Given the description of an element on the screen output the (x, y) to click on. 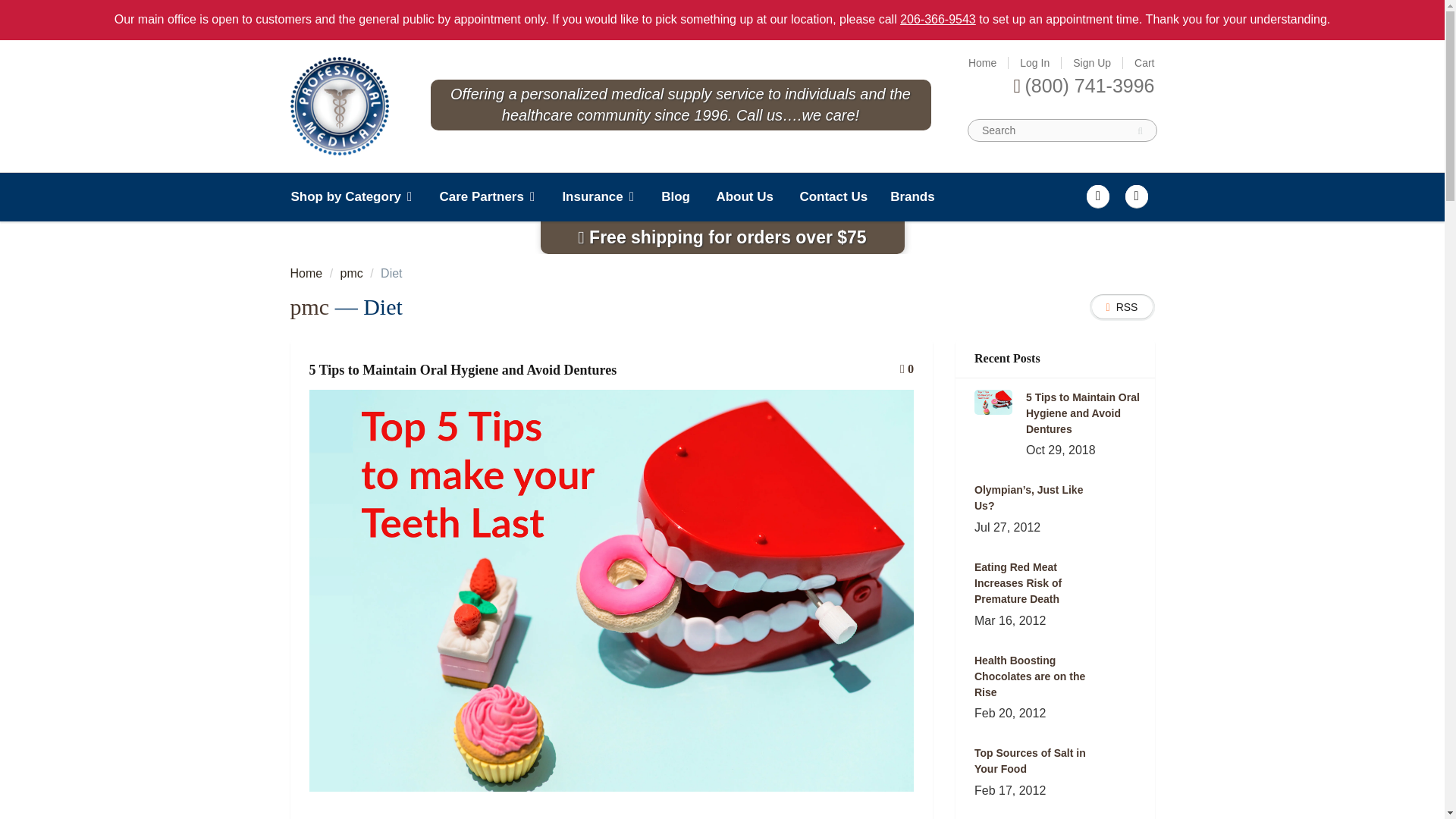
Home (981, 62)
Log In (1034, 62)
Shop by Category (358, 196)
Cart (1144, 62)
Sign Up (1091, 62)
206-366-9543 (937, 19)
